Given the description of an element on the screen output the (x, y) to click on. 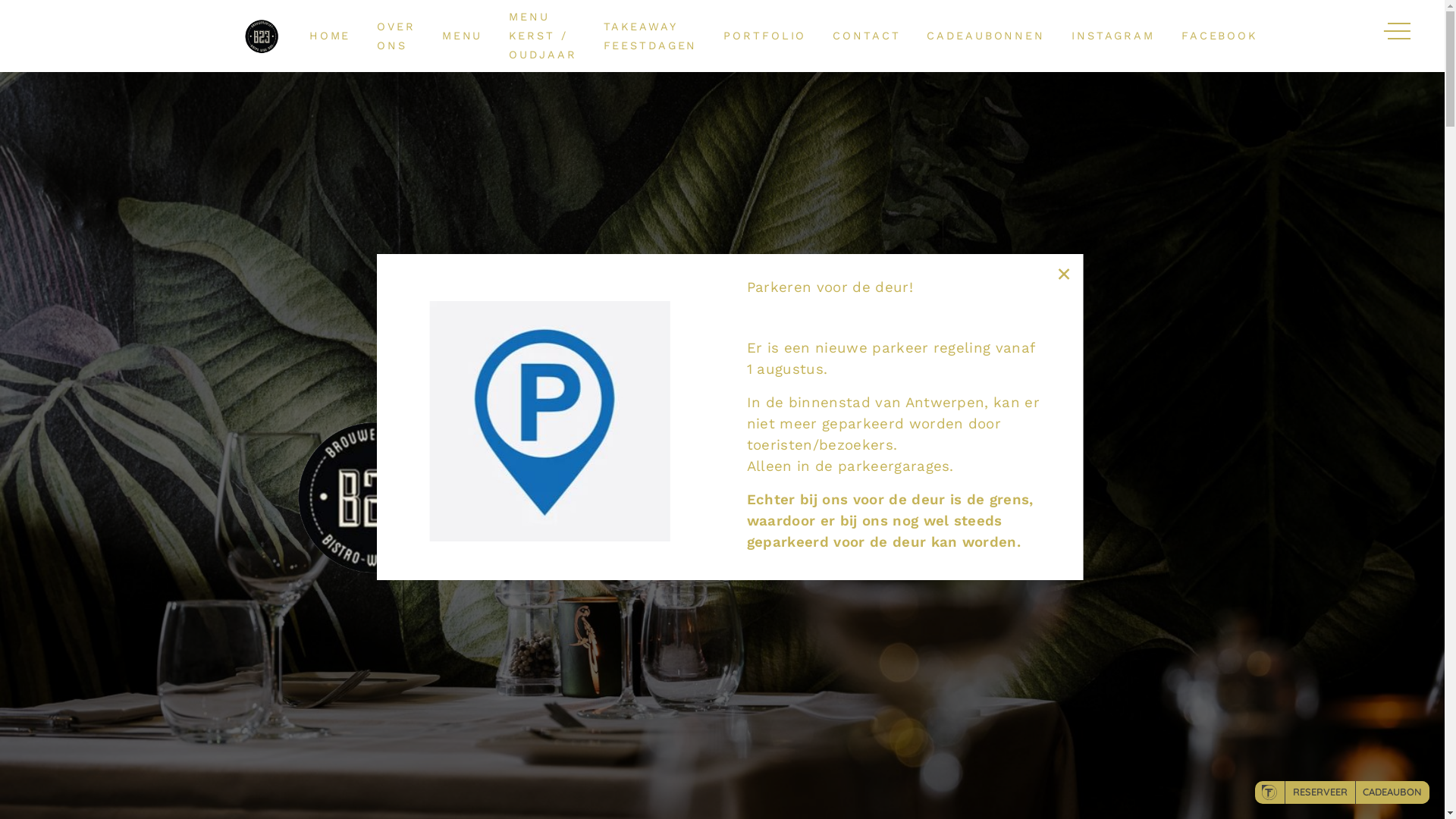
MENU KERST / OUDJAAR Element type: text (542, 35)
PORTFOLIO Element type: text (764, 35)
INSTAGRAM Element type: text (1112, 35)
CADEAUBONNEN Element type: text (985, 35)
TAKEAWAY FEESTDAGEN Element type: text (650, 35)
HOME Element type: text (330, 35)
FACEBOOK Element type: text (1219, 35)
CONTACT Element type: text (866, 35)
MENU Element type: text (462, 35)
OVER ONS Element type: text (395, 35)
